Given the description of an element on the screen output the (x, y) to click on. 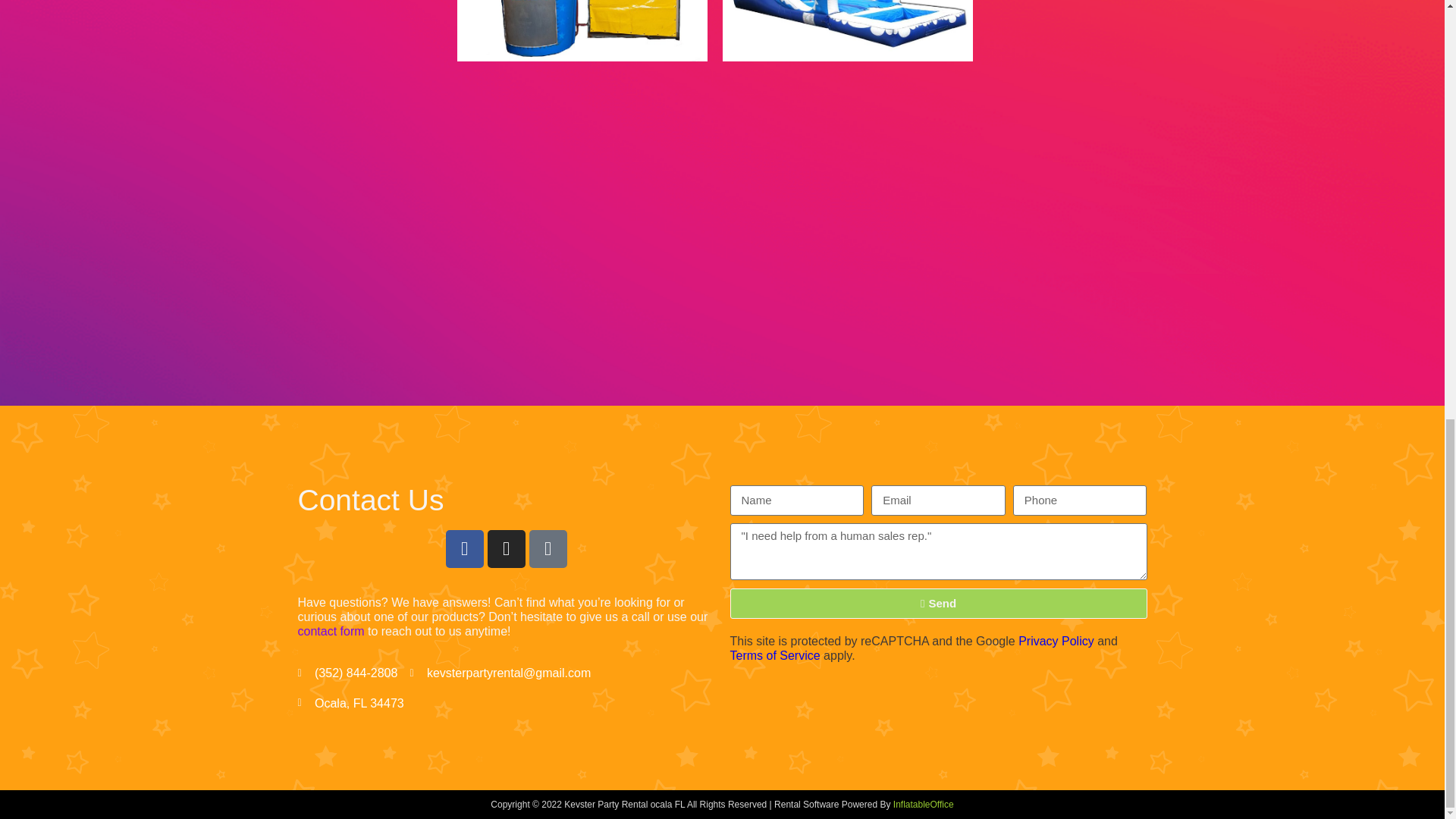
Privacy Policy (1055, 640)
Terms of Service (774, 655)
contact form (330, 631)
InflatableOffice (923, 804)
Send (938, 603)
